Given the description of an element on the screen output the (x, y) to click on. 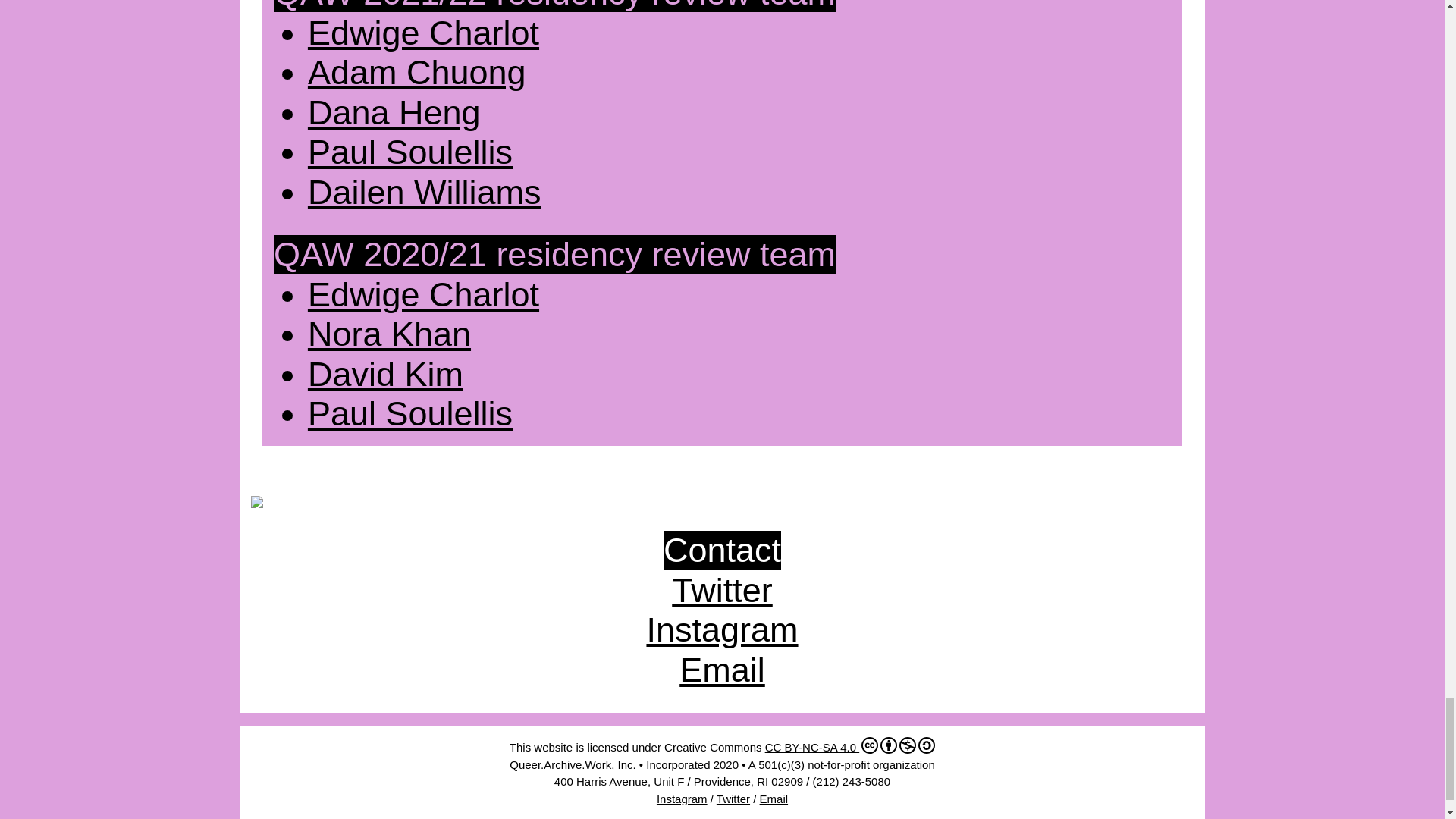
David Kim (385, 373)
Paul Soulellis (409, 413)
Twitter (722, 589)
Nora Khan (388, 333)
Edwige Charlot (422, 32)
Twitter (732, 798)
Dailen Williams (424, 191)
Email (774, 798)
Queer.Archive.Work, Inc. (571, 764)
Instagram (681, 798)
